Given the description of an element on the screen output the (x, y) to click on. 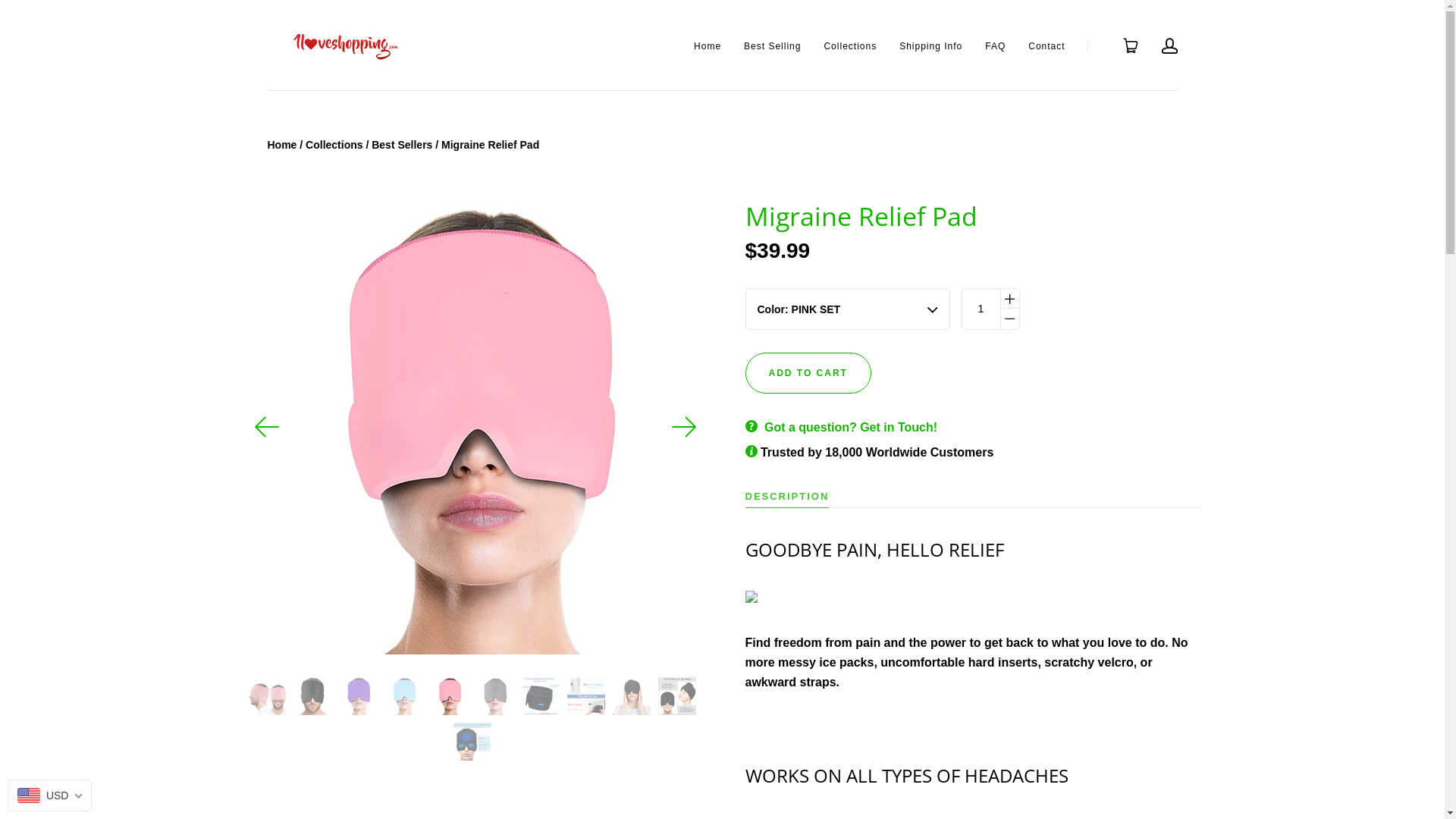
Add to cart Element type: text (807, 372)
Home Element type: text (707, 45)
Best Sellers Element type: text (401, 144)
Shipping Info Element type: text (930, 45)
Got a question? Get in Touch! Element type: text (850, 427)
Contact Element type: text (1046, 45)
Home Element type: text (281, 144)
Collections Element type: text (333, 144)
FAQ Element type: text (995, 45)
Collections Element type: text (849, 45)
Best Selling Element type: text (771, 45)
